Given the description of an element on the screen output the (x, y) to click on. 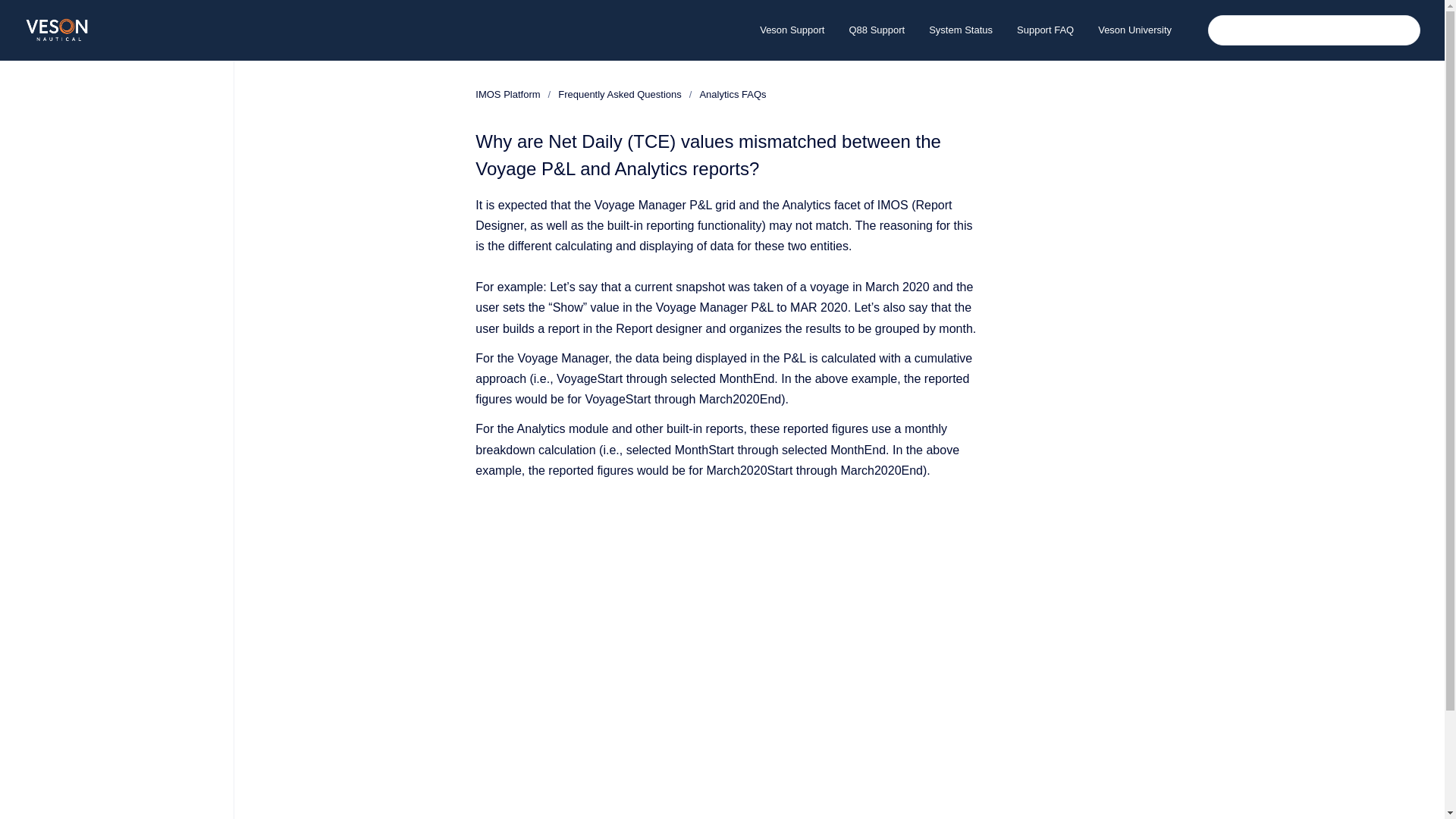
Analytics FAQs (731, 94)
Frequently Asked Questions (619, 94)
Support FAQ (1045, 29)
Go to homepage (57, 30)
Q88 Support (876, 29)
System Status (960, 29)
Veson University (1134, 29)
Veson Support (791, 29)
IMOS Platform (508, 94)
